Given the description of an element on the screen output the (x, y) to click on. 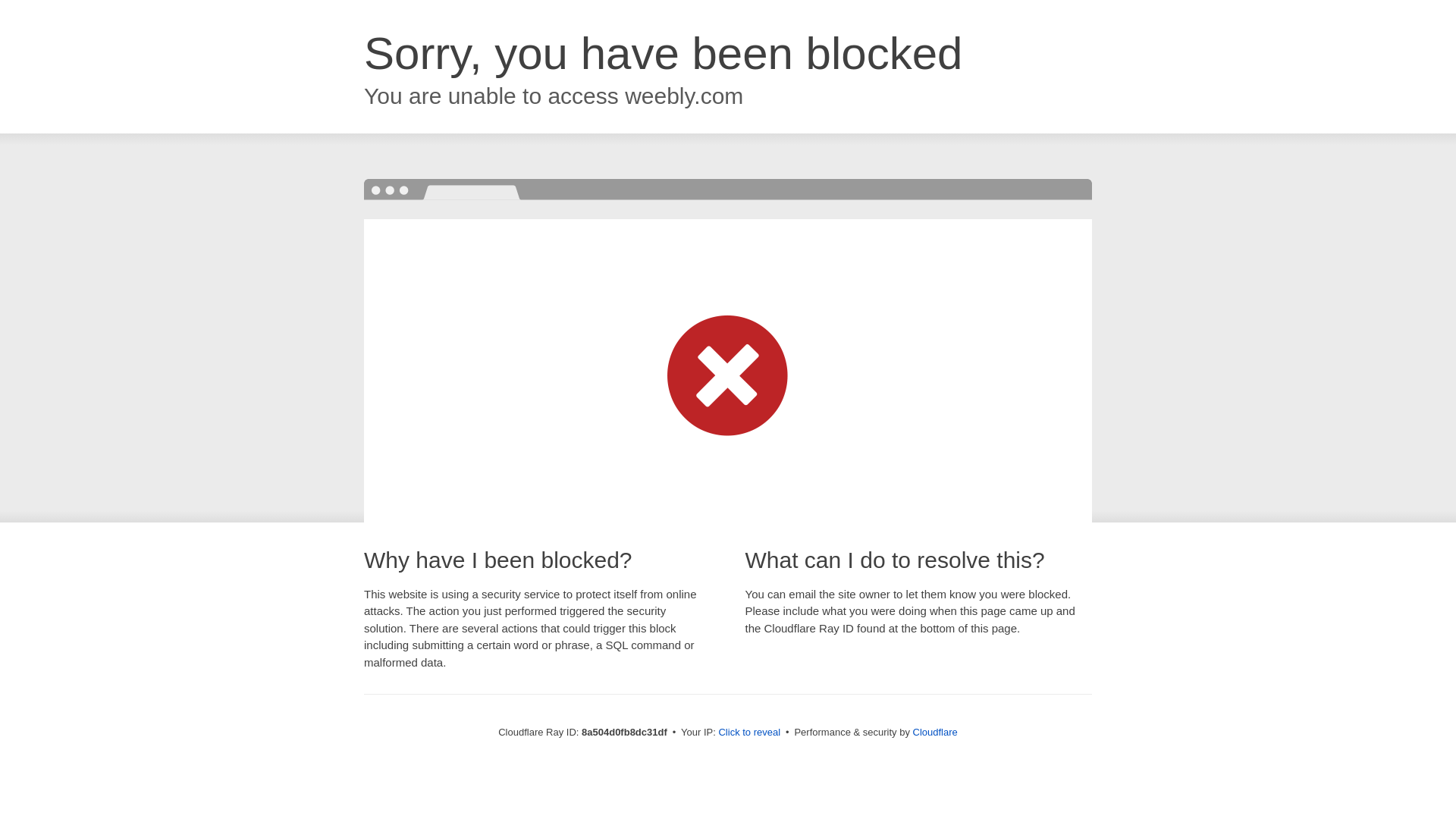
Click to reveal (748, 732)
Cloudflare (935, 731)
